Given the description of an element on the screen output the (x, y) to click on. 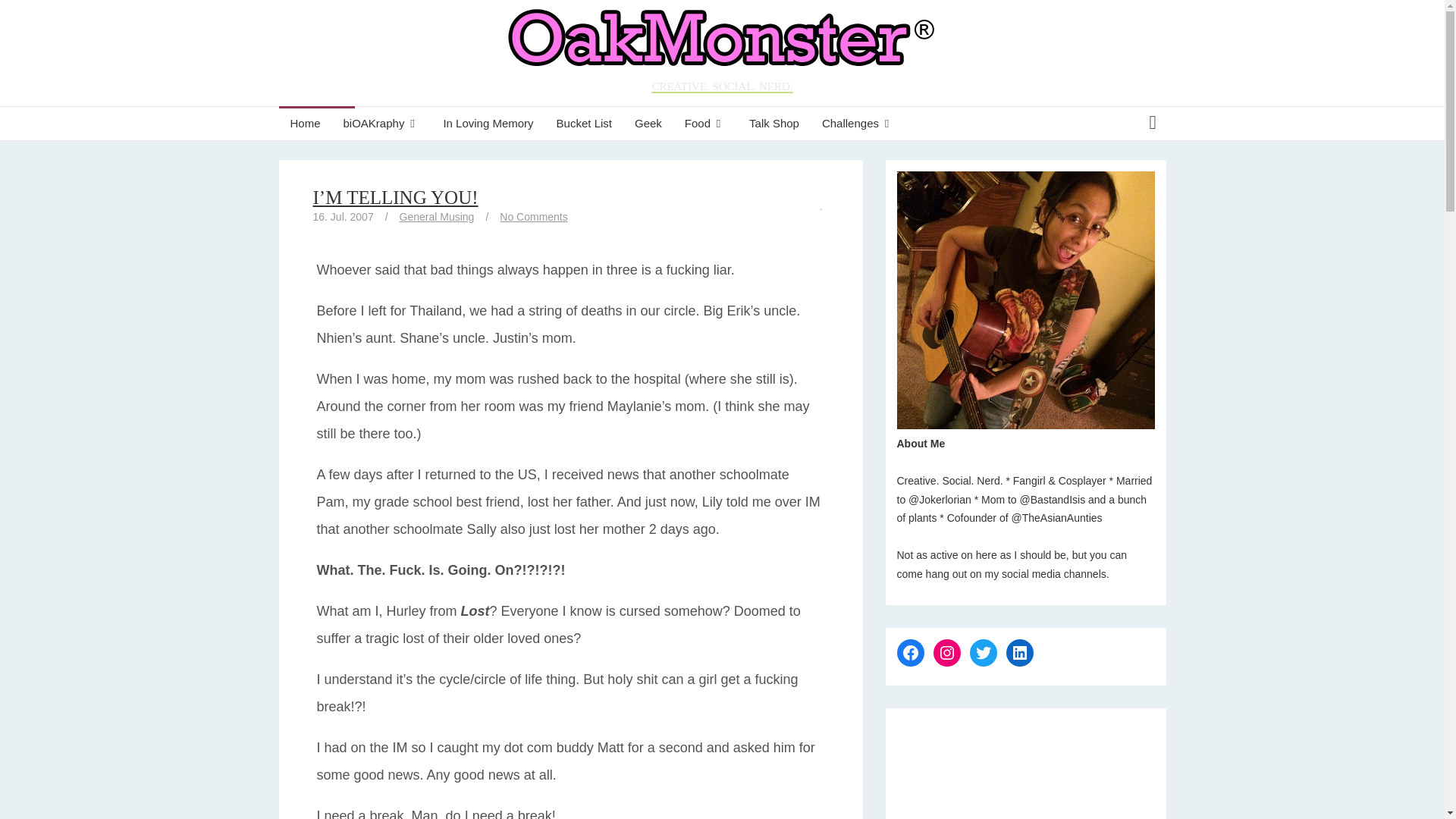
a little life story (381, 123)
No Comments (533, 216)
Food (705, 123)
View all posts in General Musing (436, 216)
Oakley remembers her late mother (487, 123)
Bucket List (583, 123)
Challenges (857, 123)
Geek (647, 123)
biOAKraphy (381, 123)
In Loving Memory (487, 123)
